Given the description of an element on the screen output the (x, y) to click on. 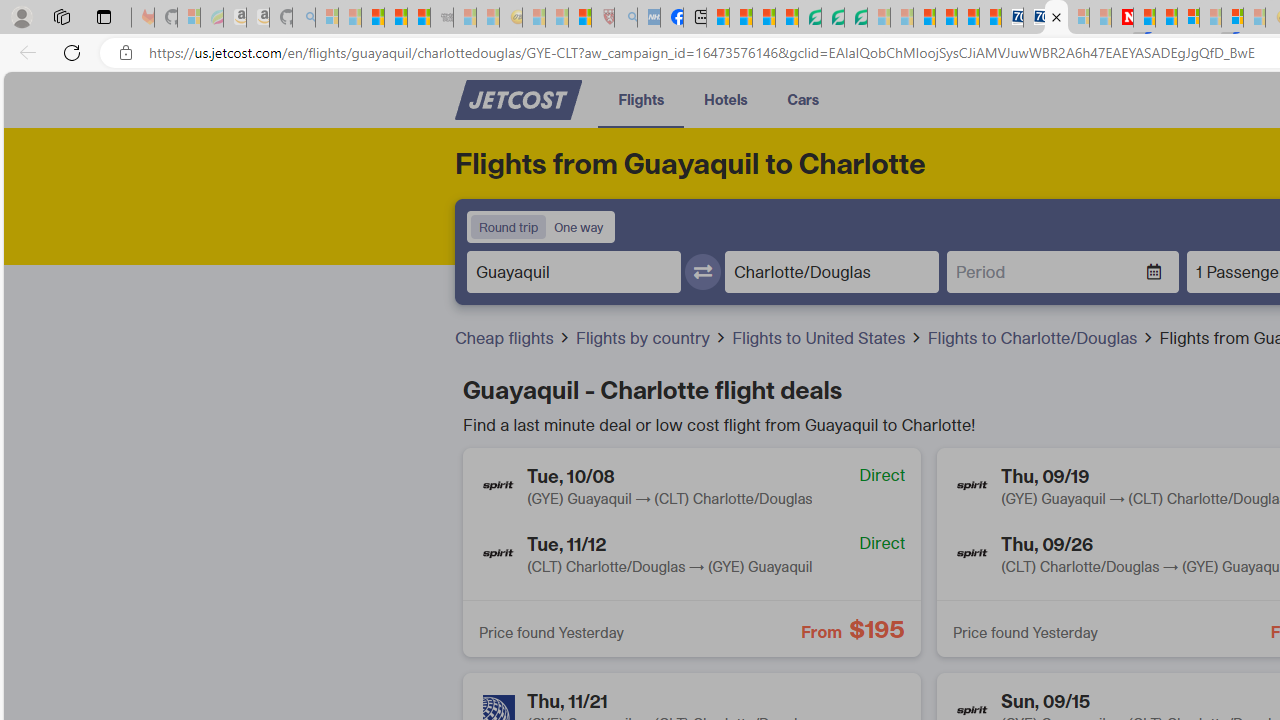
Recipes - MSN - Sleeping (534, 17)
Flights to United States (821, 337)
Close tab (1056, 16)
Departure place (574, 271)
Trusted Community Engagement and Contributions | Guidelines (1144, 17)
